Given the description of an element on the screen output the (x, y) to click on. 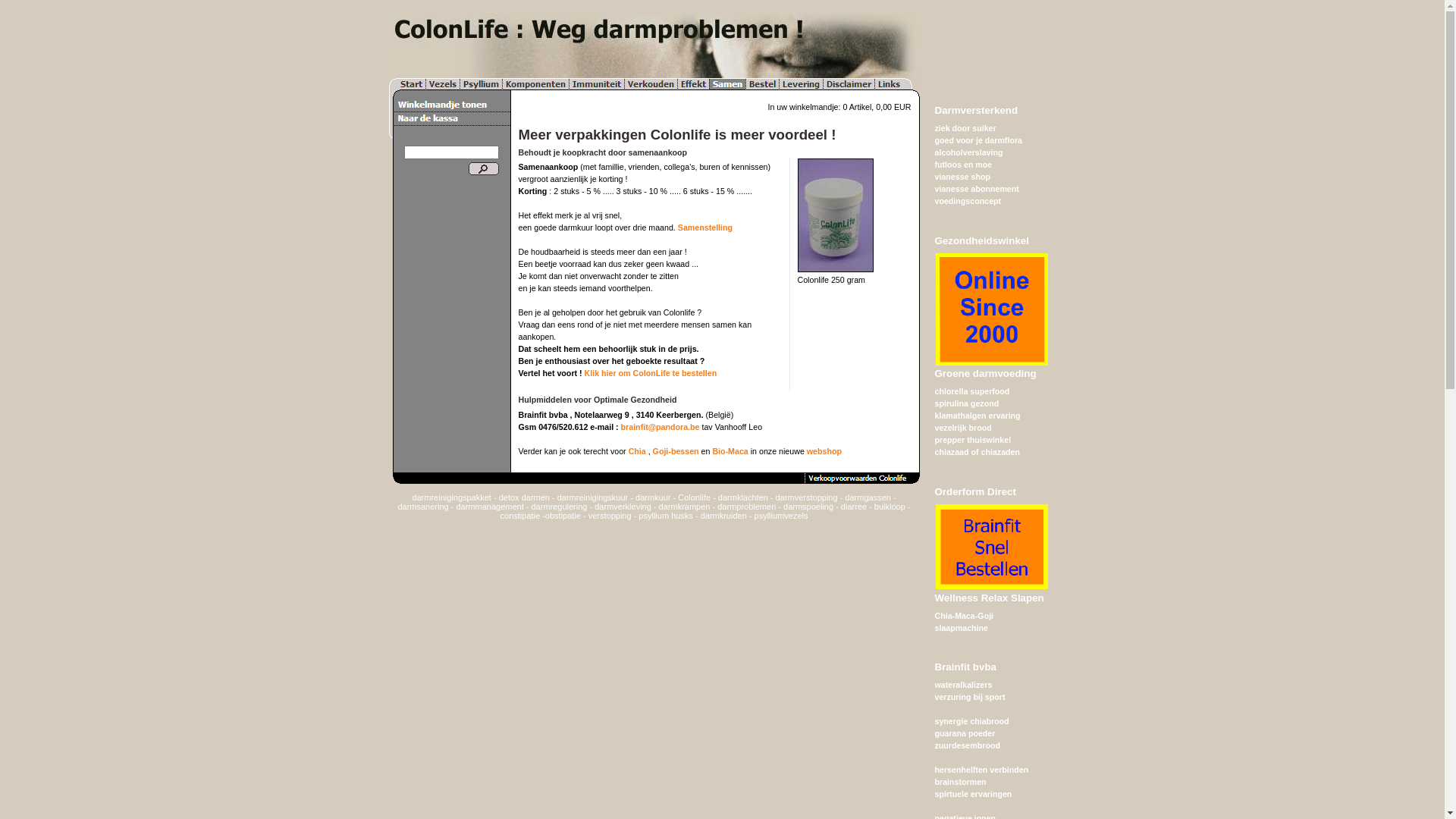
hersenhelften verbinden Element type: text (981, 769)
vianesse shop Element type: text (961, 176)
synergie chiabrood Element type: text (971, 720)
Samenstelling Element type: text (704, 227)
klamathalgen ervaring Element type: text (976, 415)
alcoholverslaving Element type: text (968, 151)
prepper thuiswinkel Element type: text (972, 439)
verzuring bij sport Element type: text (969, 696)
brainstormen Element type: text (959, 781)
zuurdesembrood Element type: text (966, 744)
spirtuele ervaringen Element type: text (972, 793)
chlorella superfood Element type: text (971, 390)
Chia Element type: text (637, 450)
slaapmachine Element type: text (960, 627)
goed voor je darmflora Element type: text (977, 139)
Klik hier om ColonLife te bestellen Element type: text (650, 372)
vianesse abonnement Element type: text (976, 188)
brainfit@pandora.be Element type: text (660, 426)
futloos en moe Element type: text (962, 164)
vezelrijk brood Element type: text (962, 427)
guarana poeder Element type: text (964, 732)
wateralkalizers Element type: text (962, 684)
voedingsconcept Element type: text (967, 200)
ziek door suiker Element type: text (964, 127)
chiazaad of chiazaden Element type: text (976, 451)
spirulina gezond Element type: text (966, 402)
Chia-Maca-Goji Element type: text (963, 615)
Goji-bessen Element type: text (675, 450)
Bio-Maca Element type: text (729, 450)
webshop Element type: text (823, 450)
